Given the description of an element on the screen output the (x, y) to click on. 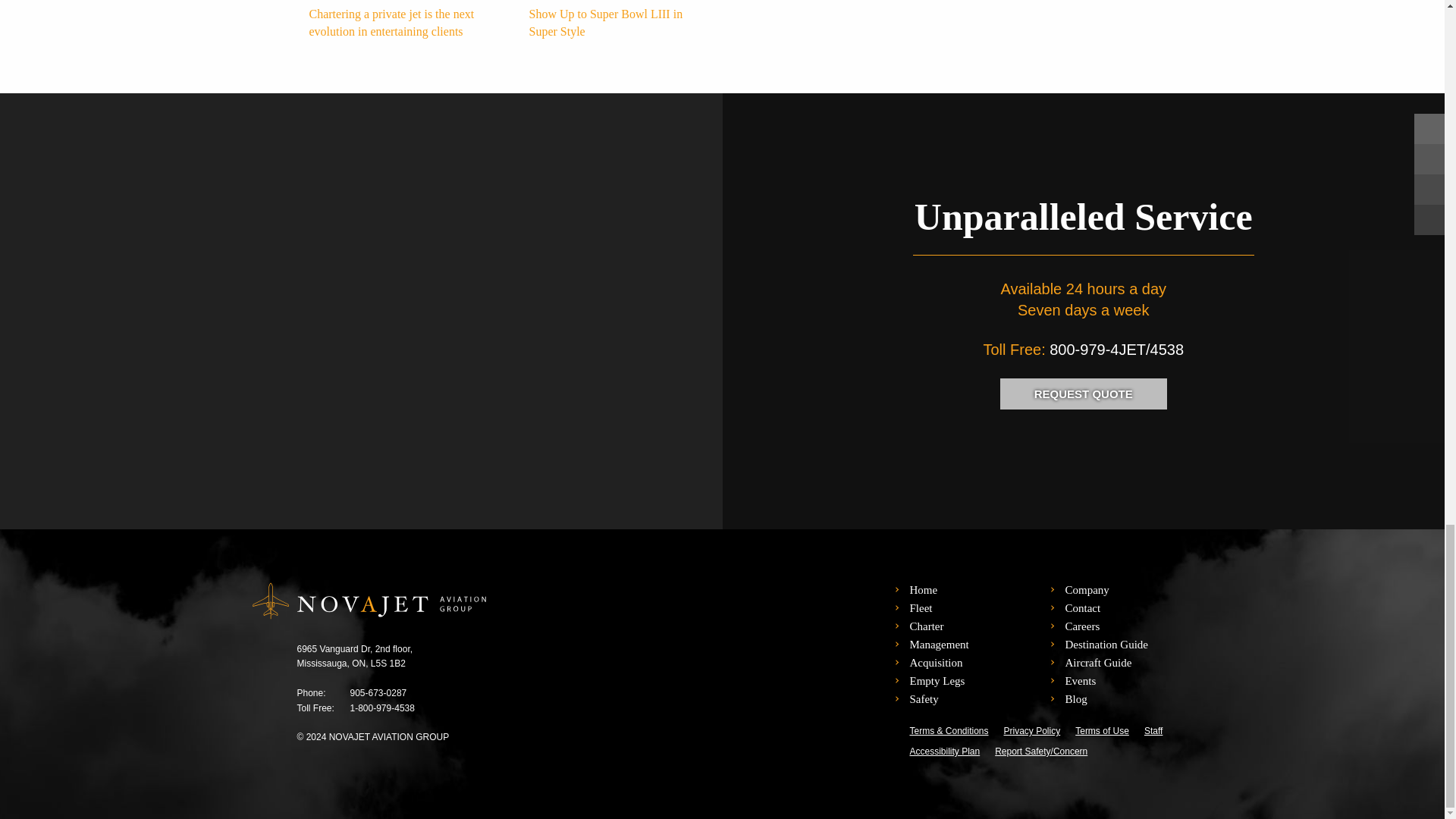
Fleet (919, 607)
Charter (925, 625)
Safety (922, 698)
Company (1086, 589)
Events (1080, 680)
Management (938, 644)
Careers (1081, 625)
REQUEST QUOTE (1083, 393)
Home (922, 589)
